Given the description of an element on the screen output the (x, y) to click on. 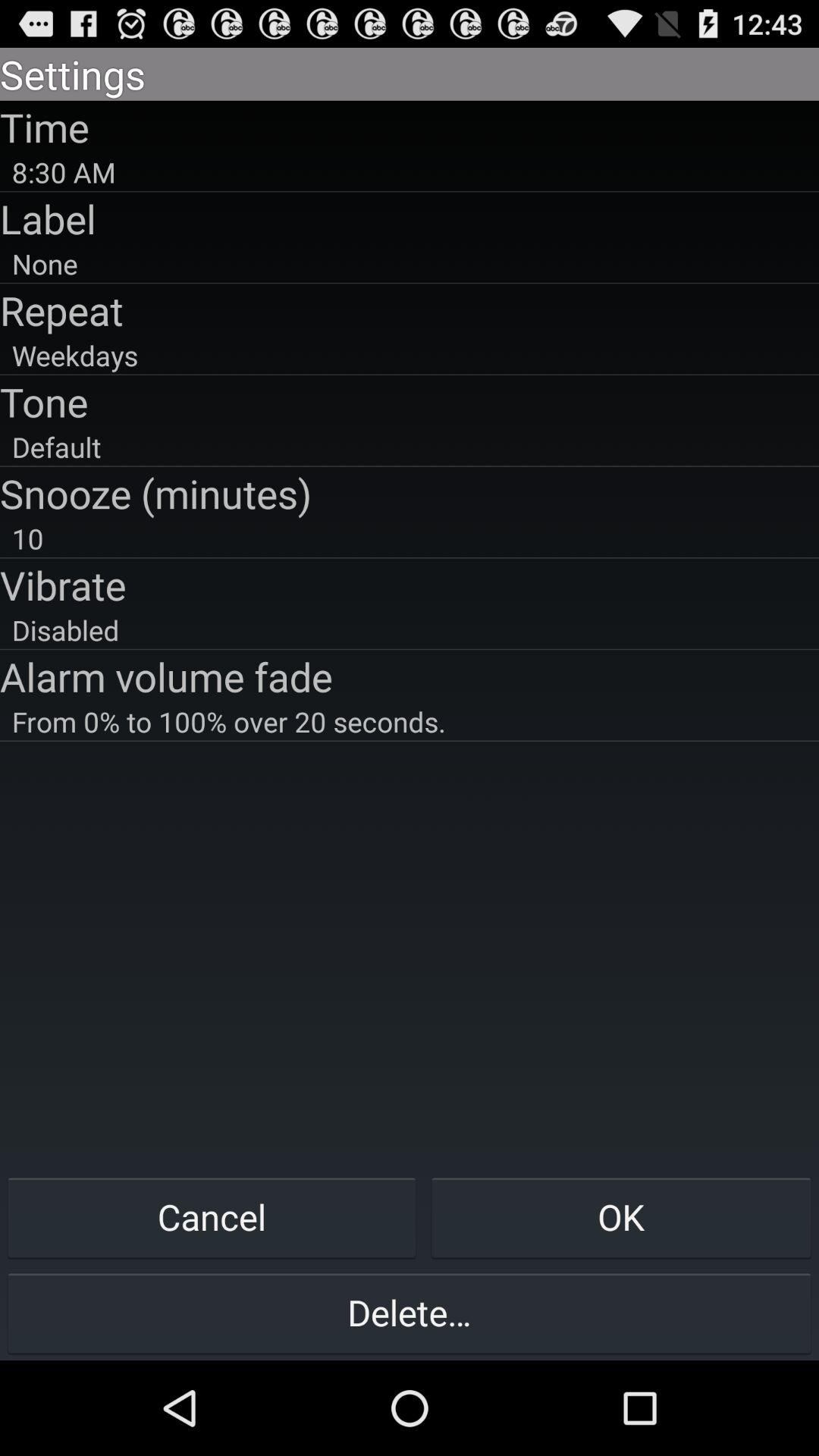
flip to time icon (409, 126)
